Given the description of an element on the screen output the (x, y) to click on. 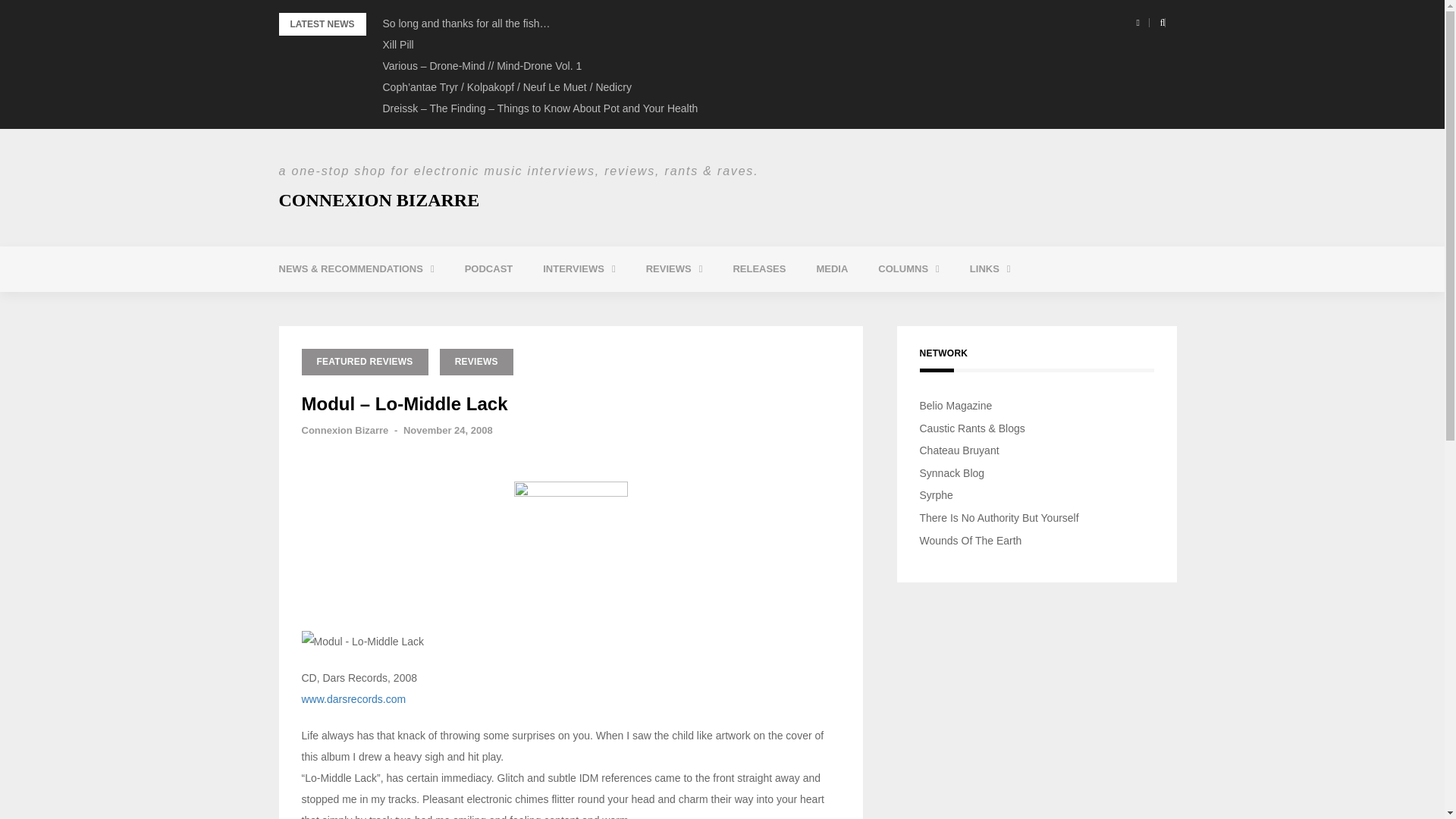
REVIEWS (673, 268)
Podcast (488, 268)
MEDIA (831, 268)
Musicians (1056, 306)
Interviews (578, 268)
Xill Pill (397, 44)
RELEASES (758, 268)
Listening (365, 306)
CONNEXION BIZARRE (379, 199)
COLUMNS (908, 268)
Artist Interviews (630, 306)
INTERVIEWS (578, 268)
Featured Reviews (732, 306)
Listening (365, 306)
